Given the description of an element on the screen output the (x, y) to click on. 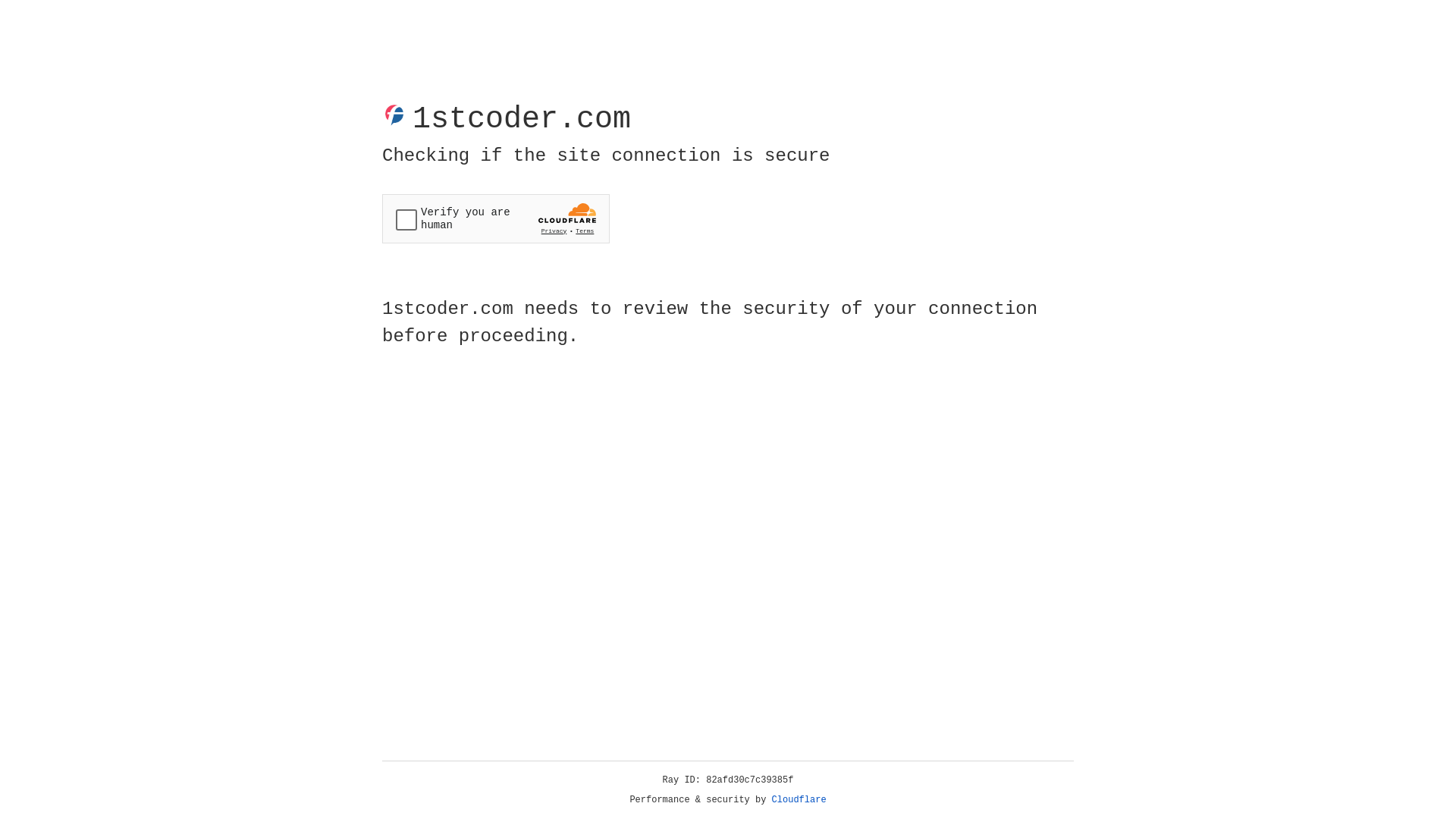
Widget containing a Cloudflare security challenge Element type: hover (495, 218)
Cloudflare Element type: text (798, 799)
